Given the description of an element on the screen output the (x, y) to click on. 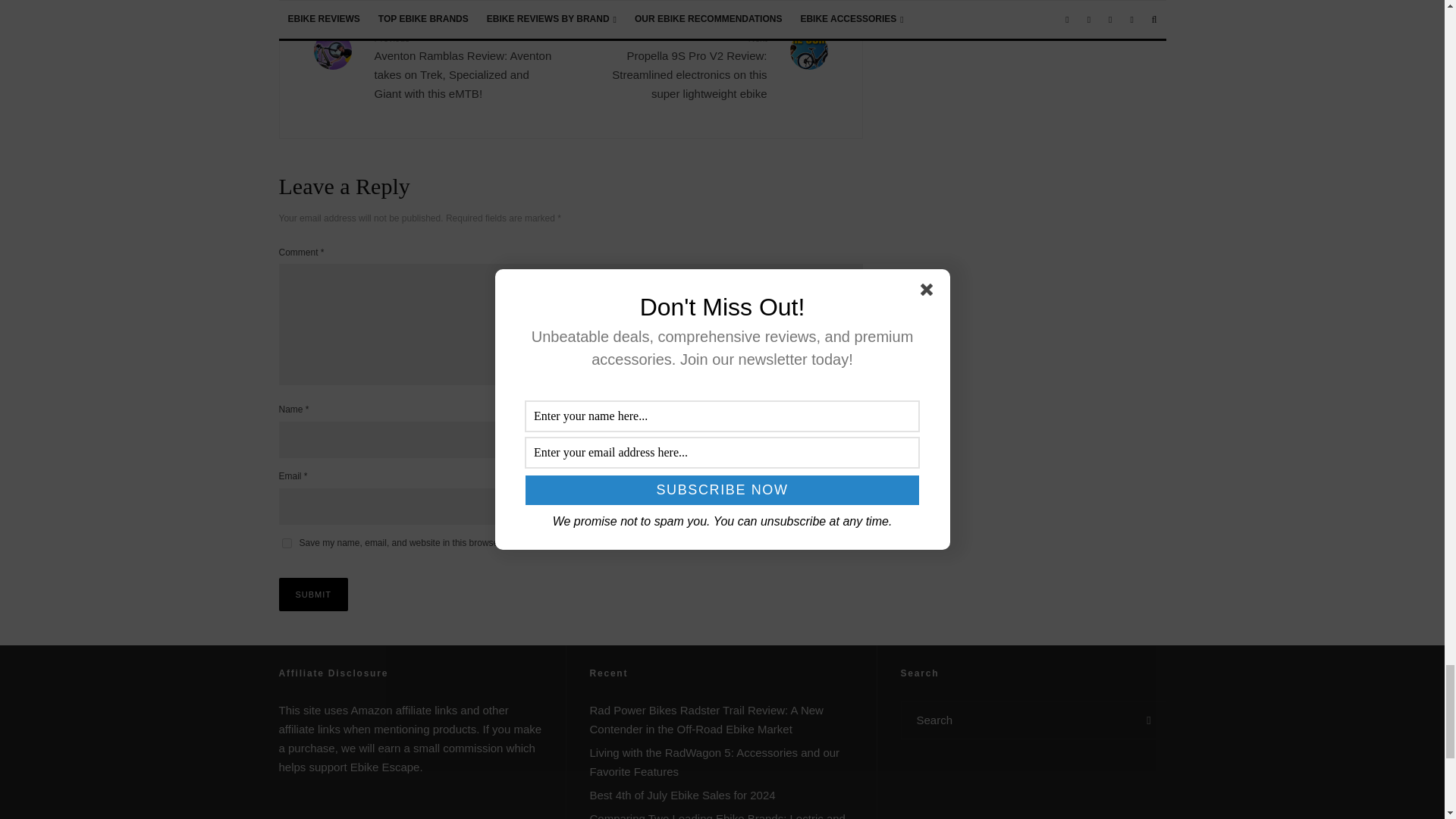
yes (287, 542)
Submit (314, 594)
